Given the description of an element on the screen output the (x, y) to click on. 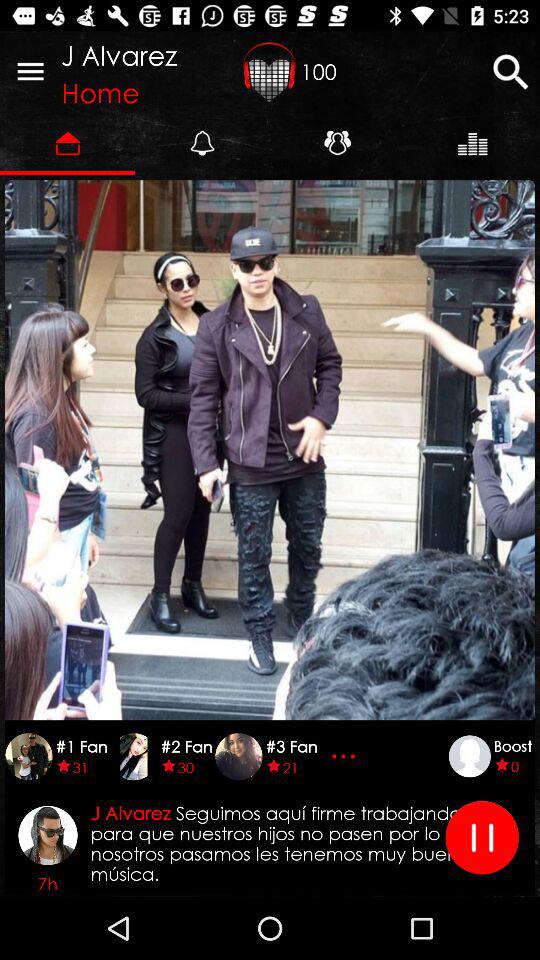
press to see more people (346, 756)
